Given the description of an element on the screen output the (x, y) to click on. 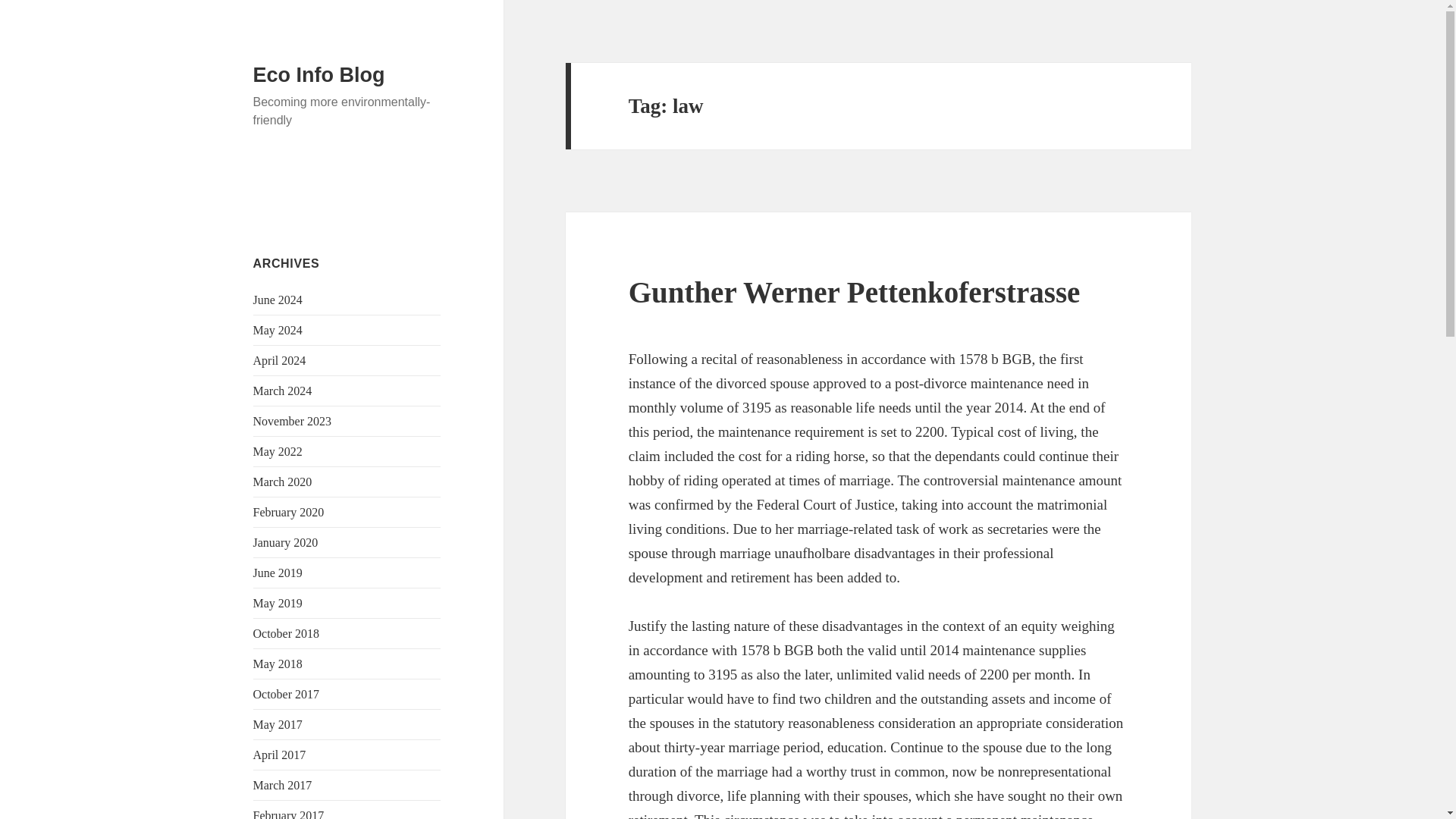
Eco Info Blog (319, 74)
March 2017 (283, 784)
May 2019 (277, 603)
October 2018 (286, 633)
June 2024 (277, 299)
October 2017 (286, 694)
March 2024 (283, 390)
April 2017 (279, 754)
June 2019 (277, 572)
January 2020 (285, 542)
November 2023 (292, 420)
February 2017 (288, 814)
May 2022 (277, 451)
May 2018 (277, 663)
March 2020 (283, 481)
